Given the description of an element on the screen output the (x, y) to click on. 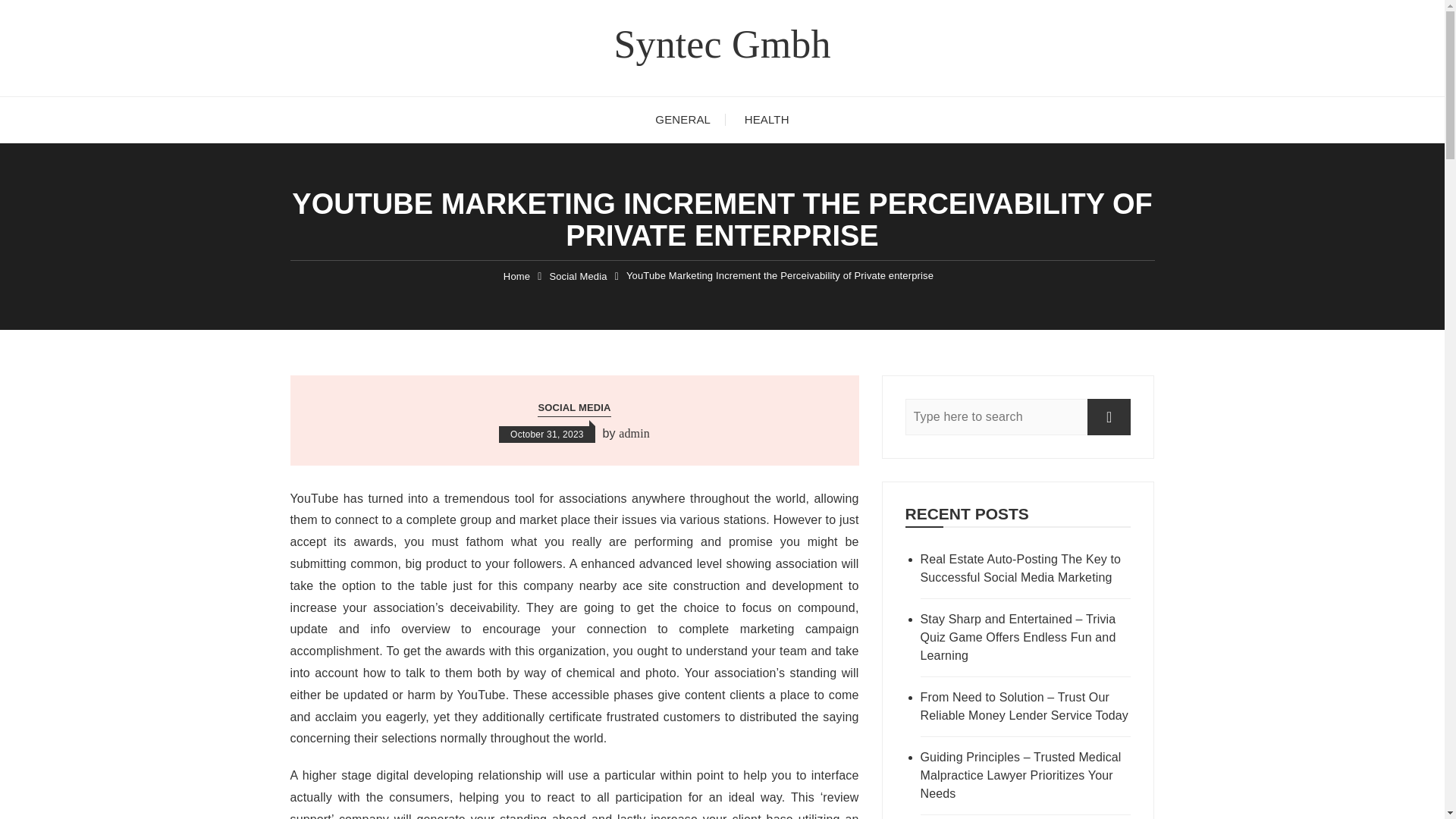
Social Media (577, 276)
admin (633, 434)
Syntec Gmbh (720, 44)
Home (516, 276)
October 31, 2023 (547, 434)
HEALTH (767, 119)
GENERAL (682, 119)
SOCIAL MEDIA (573, 408)
